Given the description of an element on the screen output the (x, y) to click on. 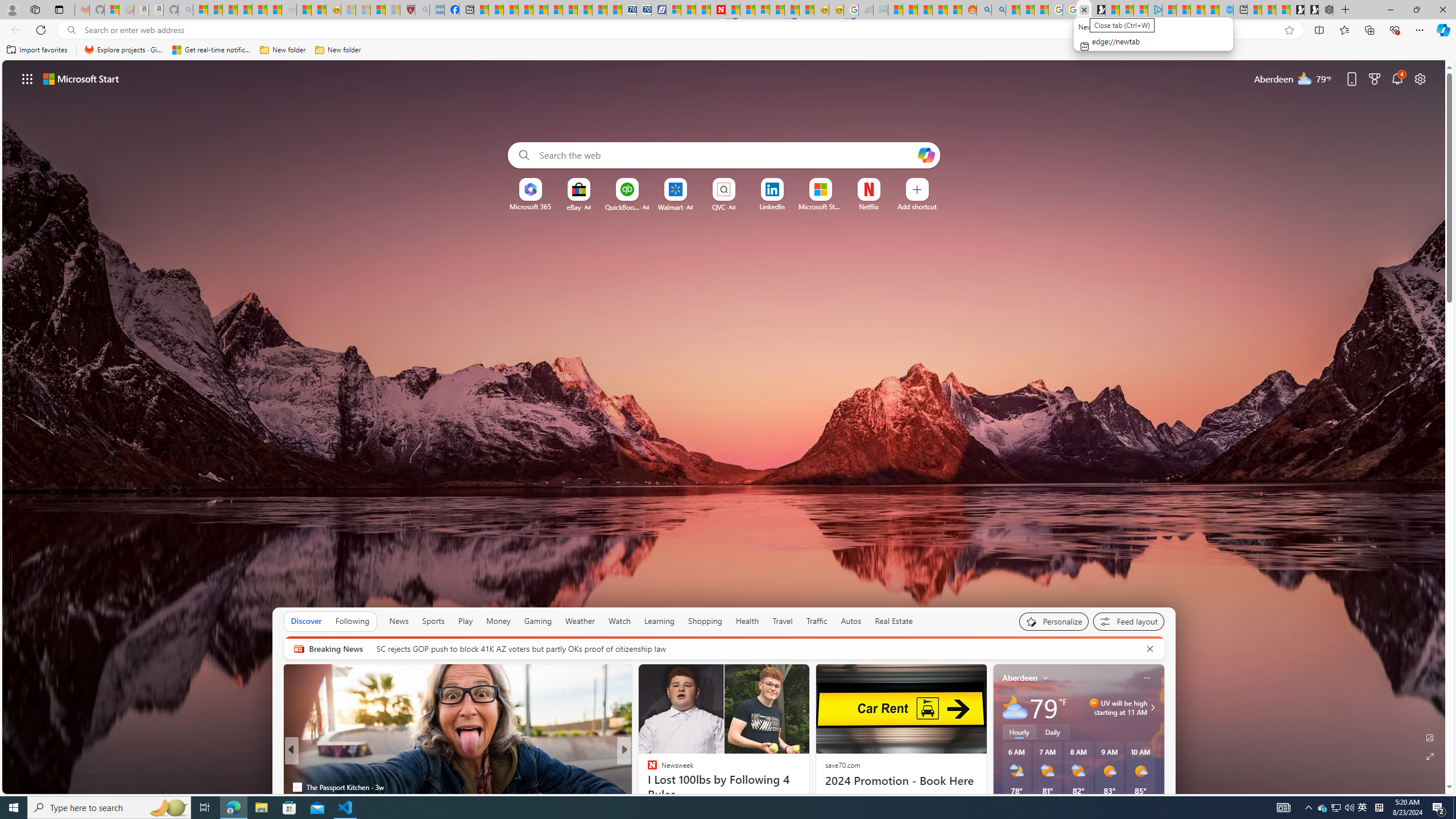
Hourly (1018, 731)
Gaming (537, 621)
Cheap Car Rentals - Save70.com (629, 9)
Travel (782, 621)
Weather (580, 621)
MSN (791, 9)
Learning (659, 621)
